Given the description of an element on the screen output the (x, y) to click on. 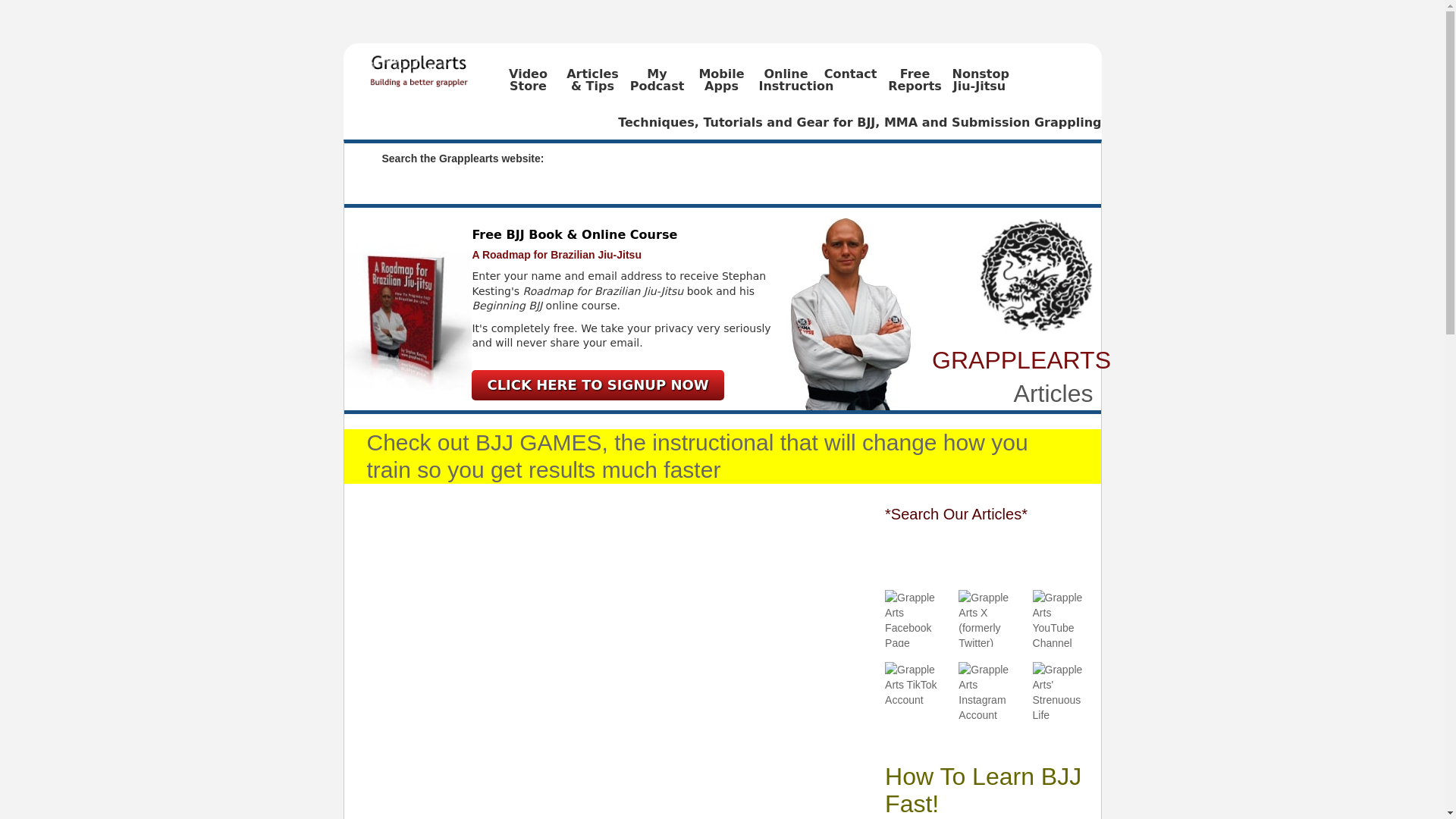
GRAPPLEARTS (440, 65)
Video Store (527, 85)
